Given the description of an element on the screen output the (x, y) to click on. 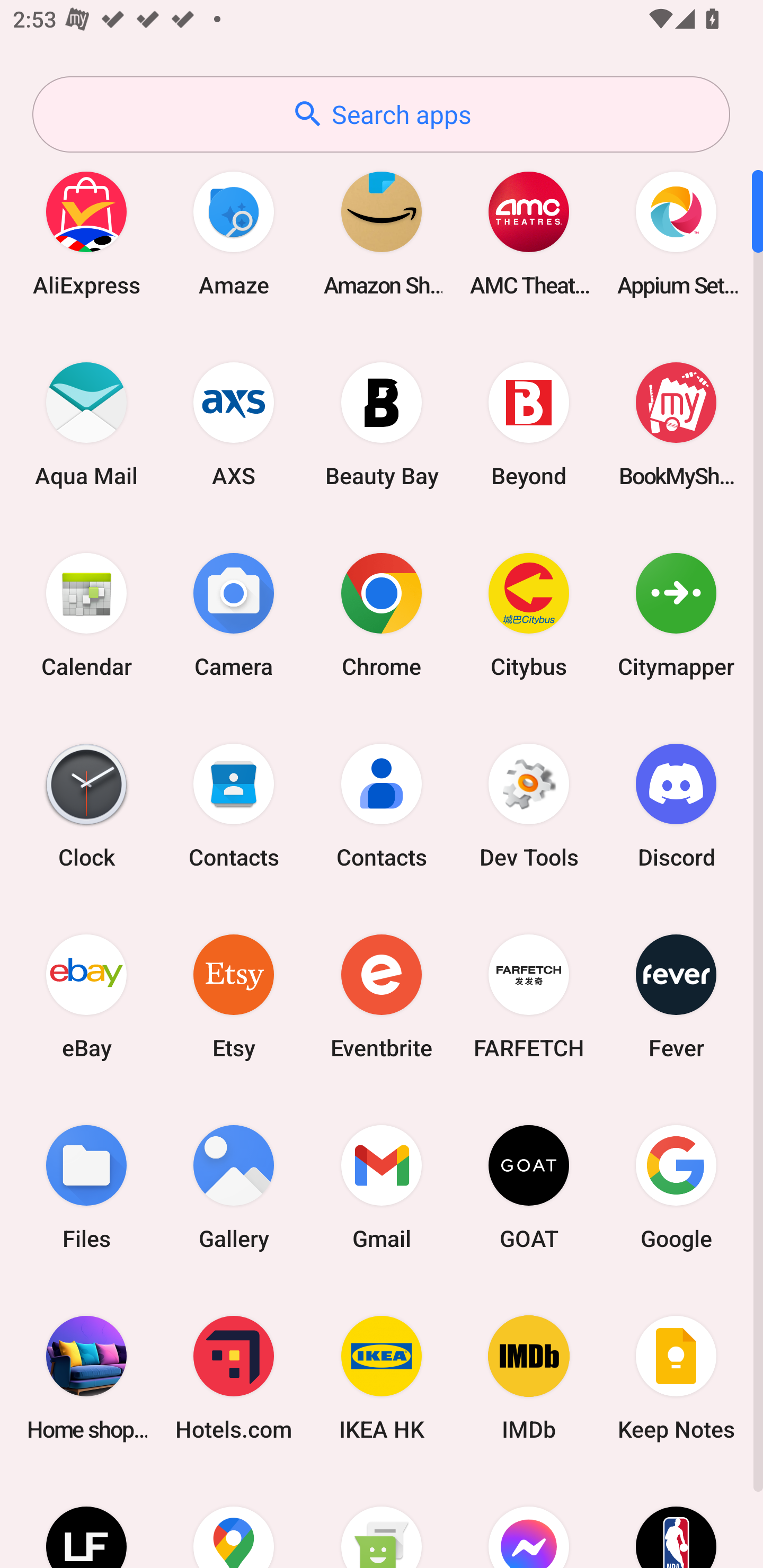
Citymapper (676, 614)
